Given the description of an element on the screen output the (x, y) to click on. 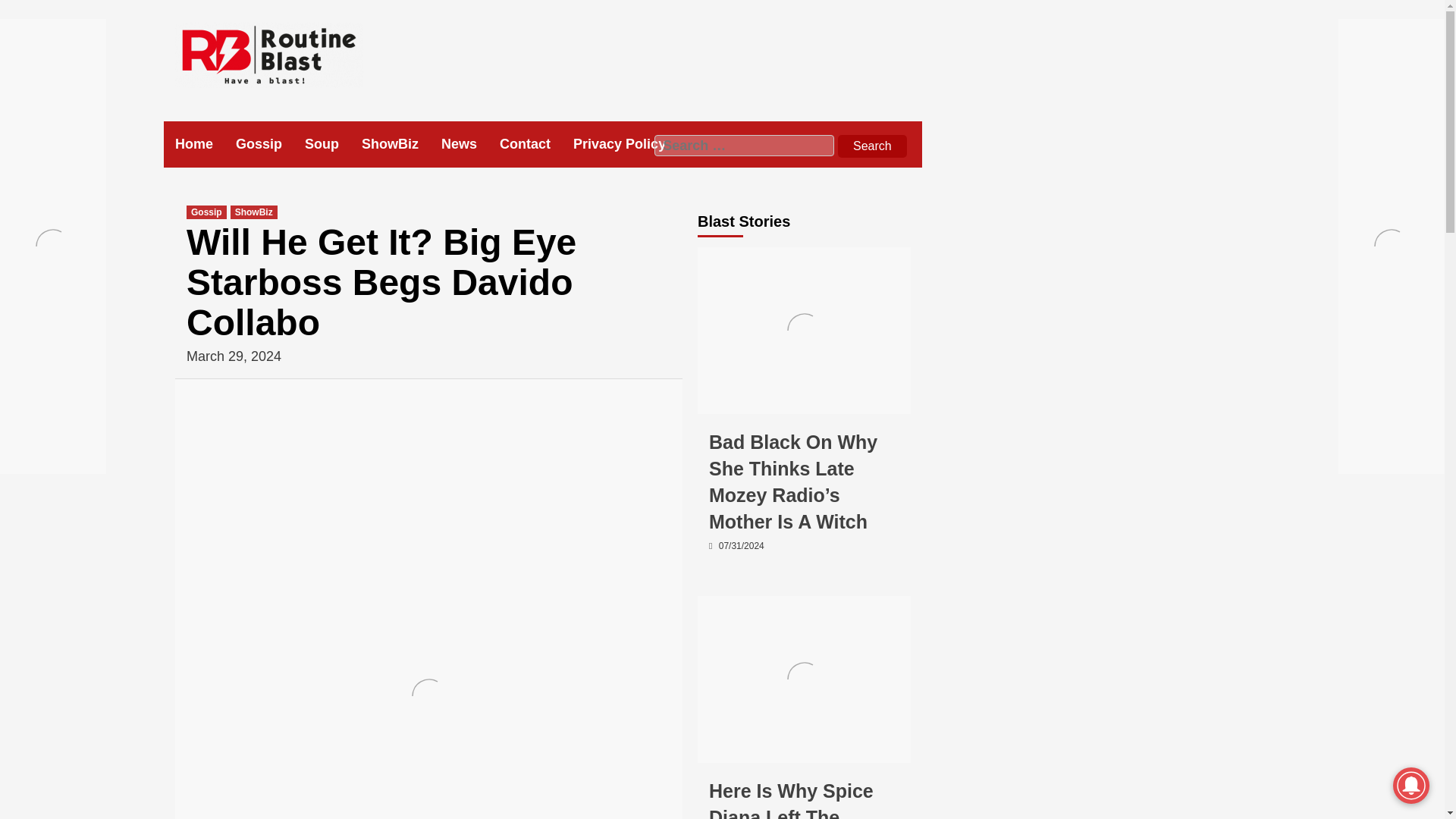
Contact (536, 144)
ShowBiz (772, 748)
Gossip (724, 399)
Privacy Policy (630, 144)
Soup (332, 144)
Gossip (269, 144)
Gossip (724, 748)
Search (872, 146)
ShowBiz (772, 399)
